Given the description of an element on the screen output the (x, y) to click on. 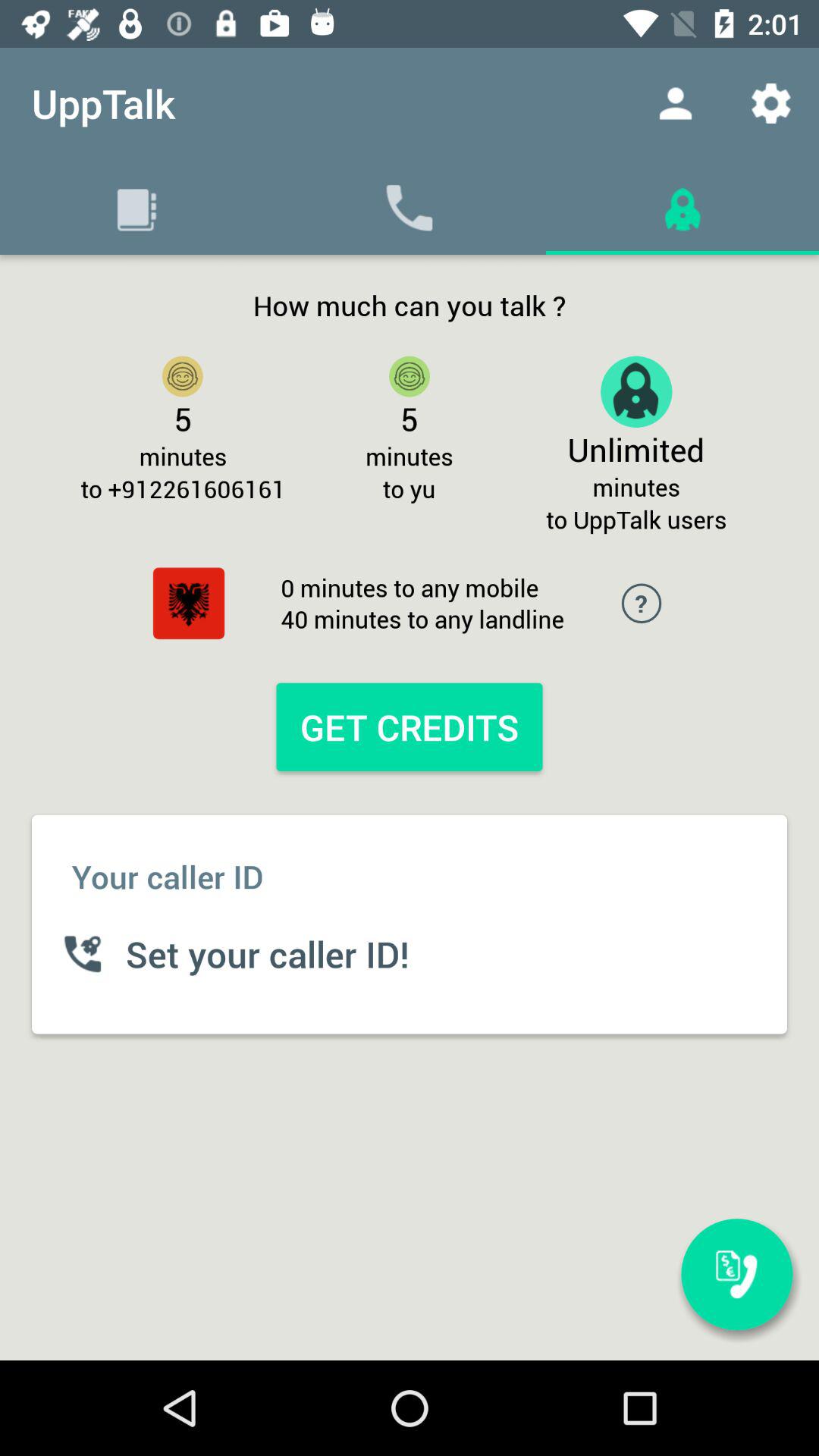
choose the app to the right of upptalk app (675, 103)
